Given the description of an element on the screen output the (x, y) to click on. 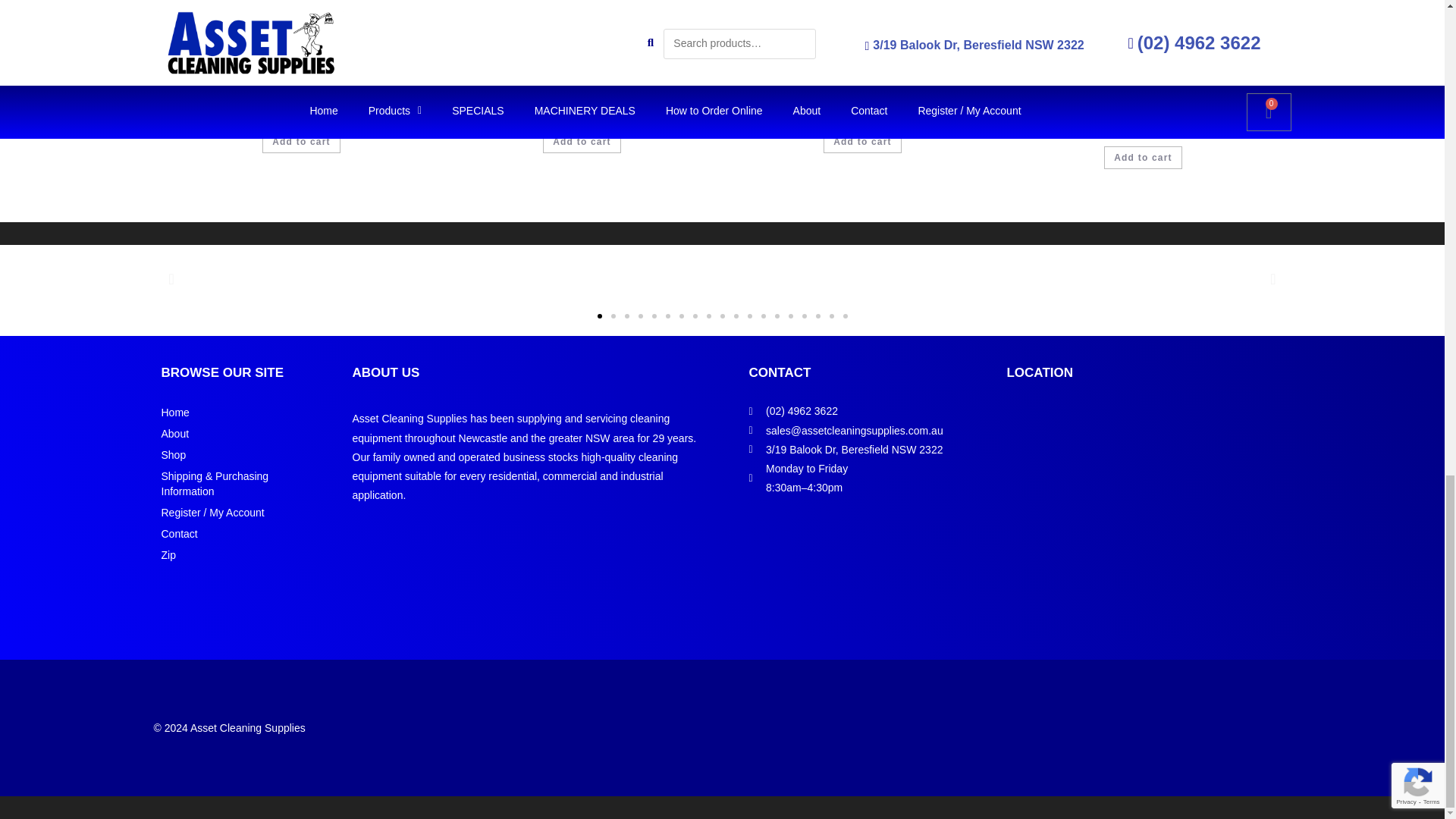
Find Us On Facebook (371, 543)
Localsearch Business Profile (402, 543)
